Given the description of an element on the screen output the (x, y) to click on. 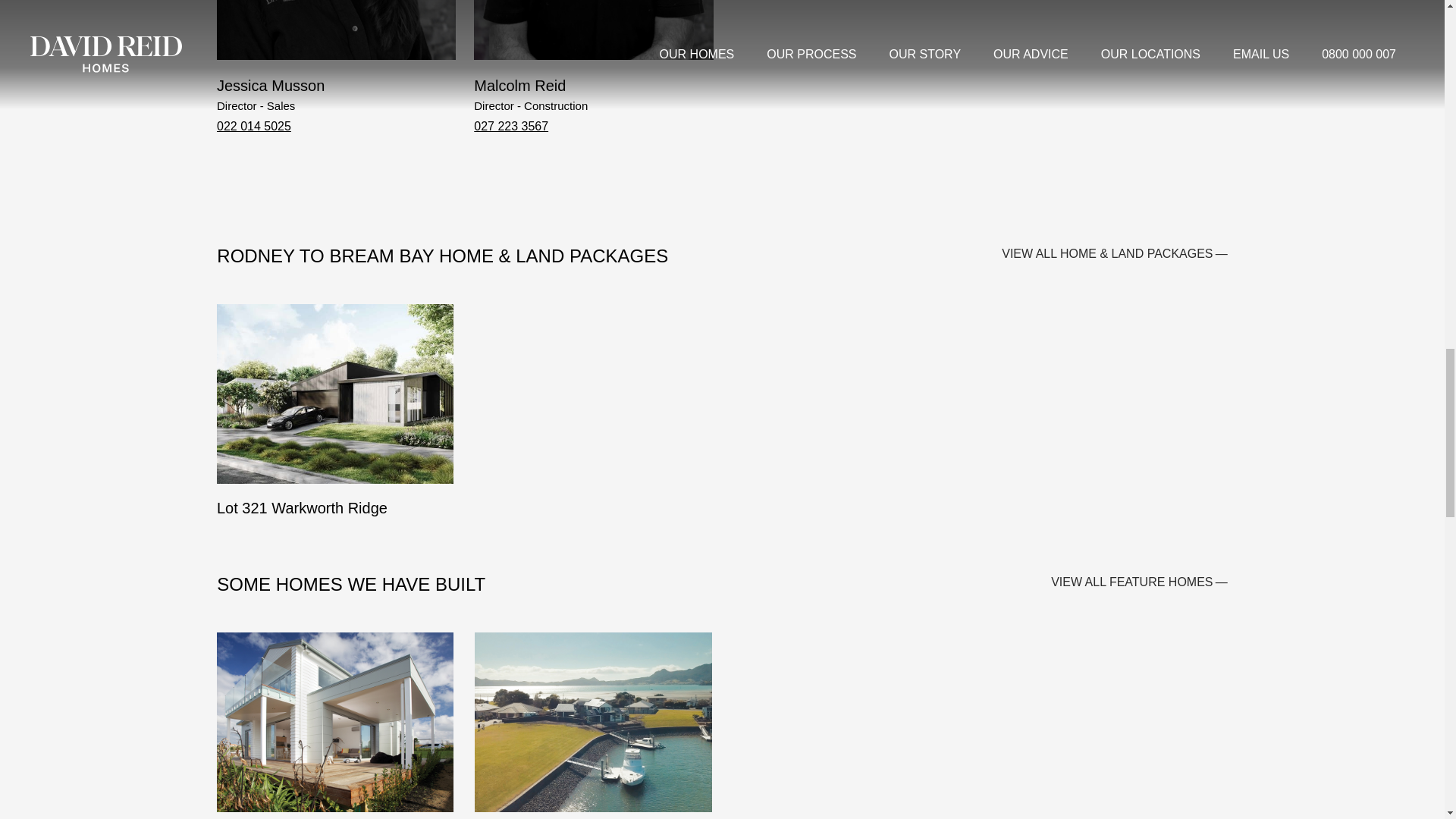
View title (593, 720)
View title (335, 720)
Lot 321 Warkworth Ridge (593, 720)
Lot 321 Warkworth Ridge (335, 420)
View title (335, 720)
